Given the description of an element on the screen output the (x, y) to click on. 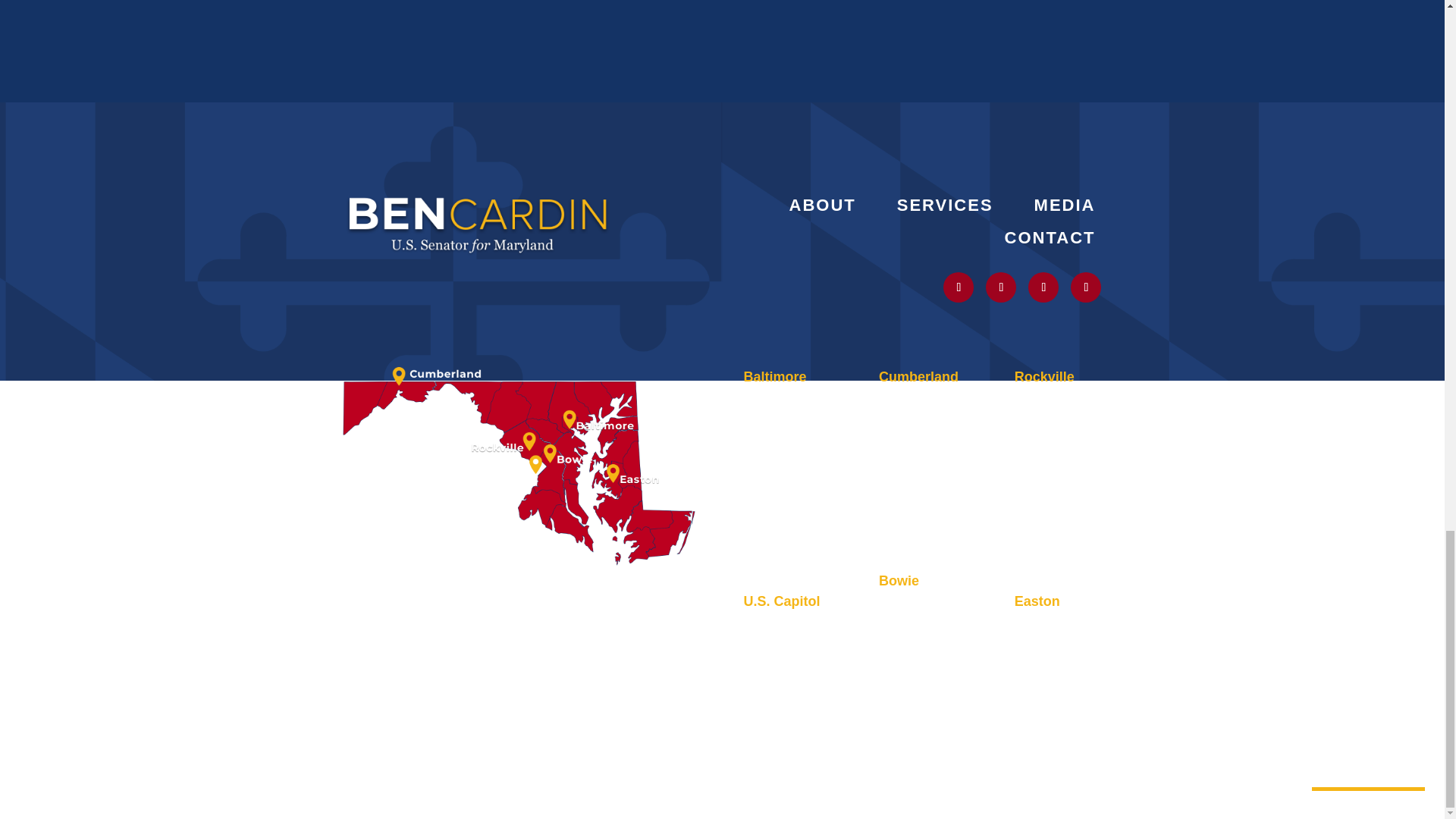
Follow on Youtube (1042, 286)
Footer (478, 223)
Follow on Facebook (1085, 286)
Privacy Policy (384, 594)
Follow on Instagram (1000, 286)
Follow on X (958, 286)
